Given the description of an element on the screen output the (x, y) to click on. 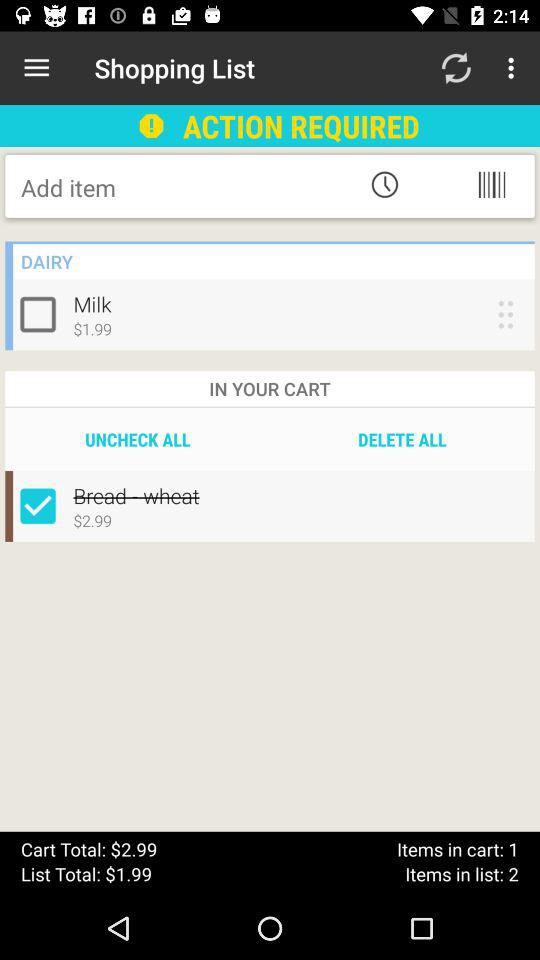
open the item to the right of action required icon (455, 67)
